Given the description of an element on the screen output the (x, y) to click on. 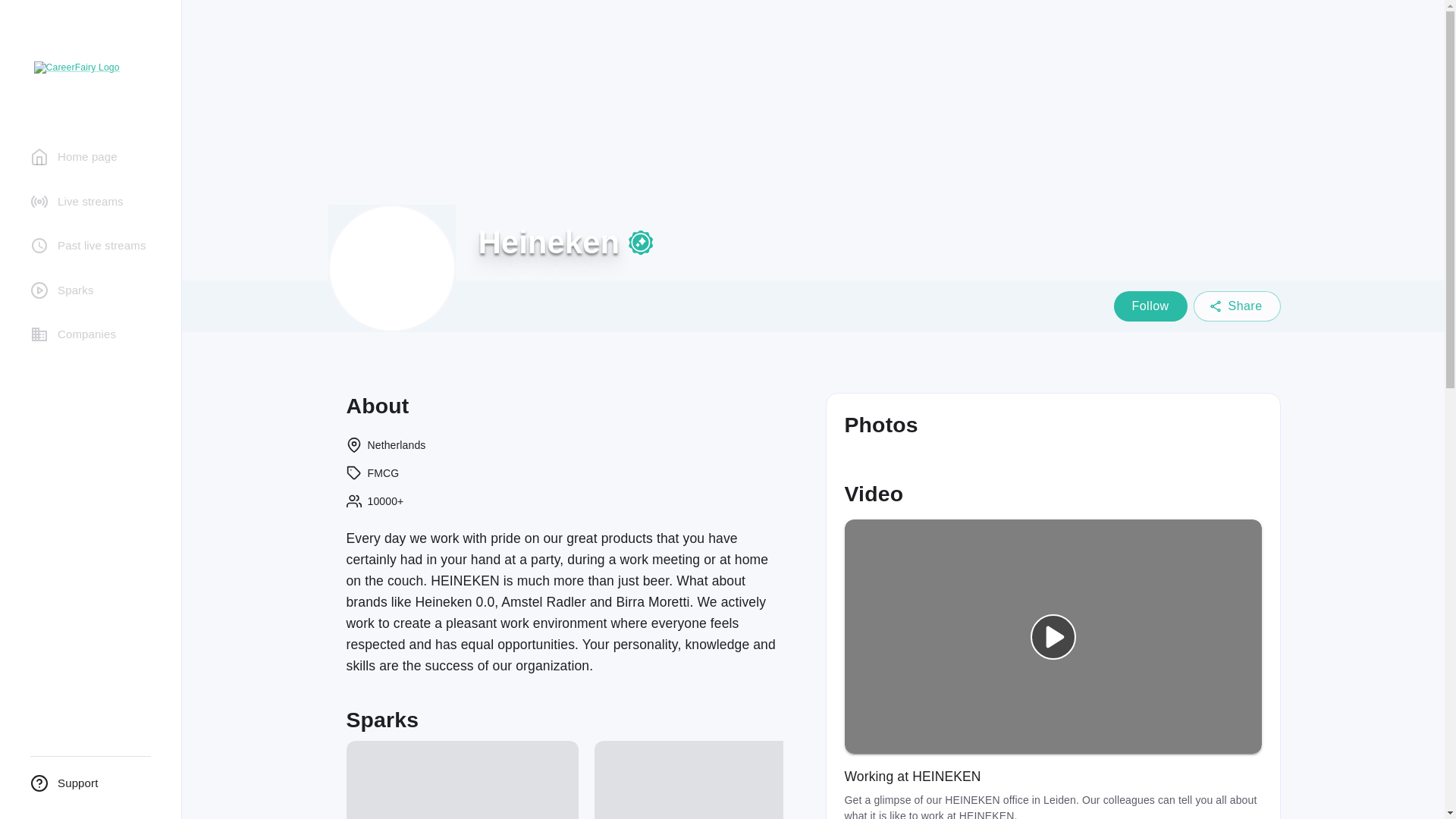
Share (1237, 306)
Live streams (90, 201)
Follow (1150, 306)
Sparks (90, 290)
Past live streams (90, 245)
Companies (90, 334)
Support (90, 783)
Home page (90, 156)
